Given the description of an element on the screen output the (x, y) to click on. 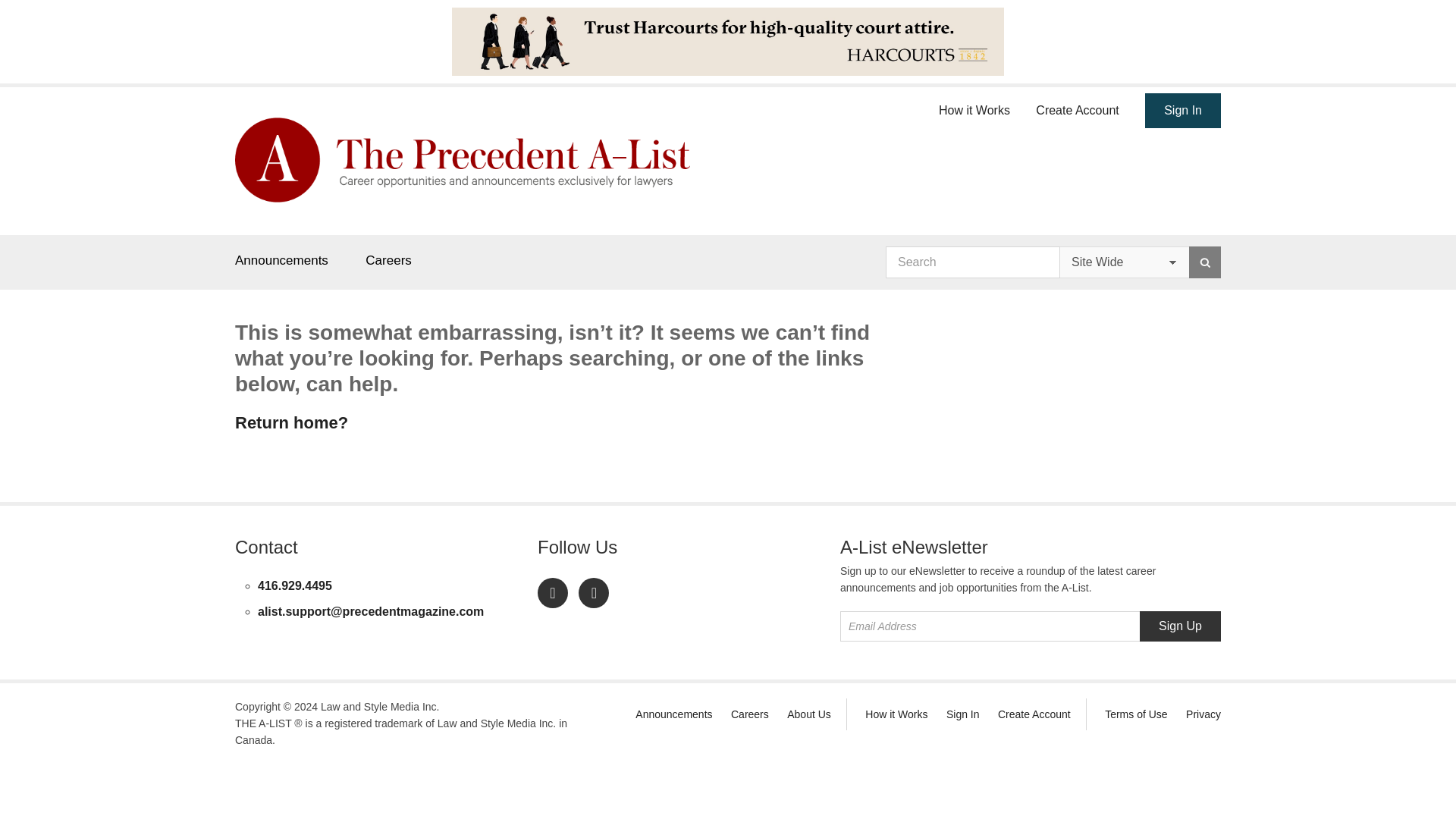
Sign Up (1180, 625)
Privacy (1203, 714)
How it Works (974, 107)
A-List on LinkedIn (552, 593)
Careers (749, 714)
A-List on Twitter (593, 593)
Return home? (290, 422)
Create Account (1033, 714)
Sign In (1182, 110)
Create Account (1076, 107)
